Given the description of an element on the screen output the (x, y) to click on. 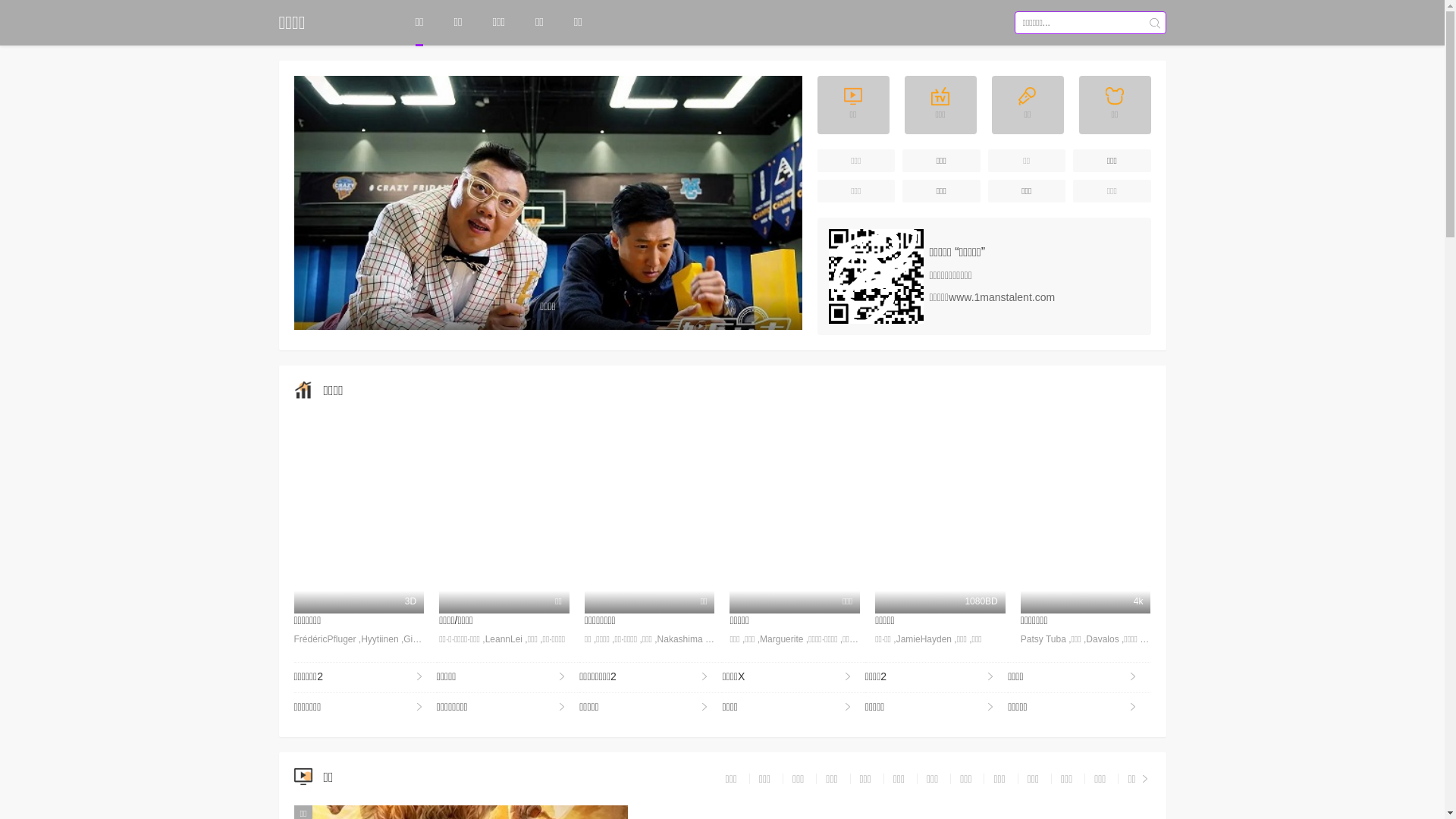
4k Element type: text (1085, 515)
3D Element type: text (359, 515)
1080BD Element type: text (940, 515)
